Given the description of an element on the screen output the (x, y) to click on. 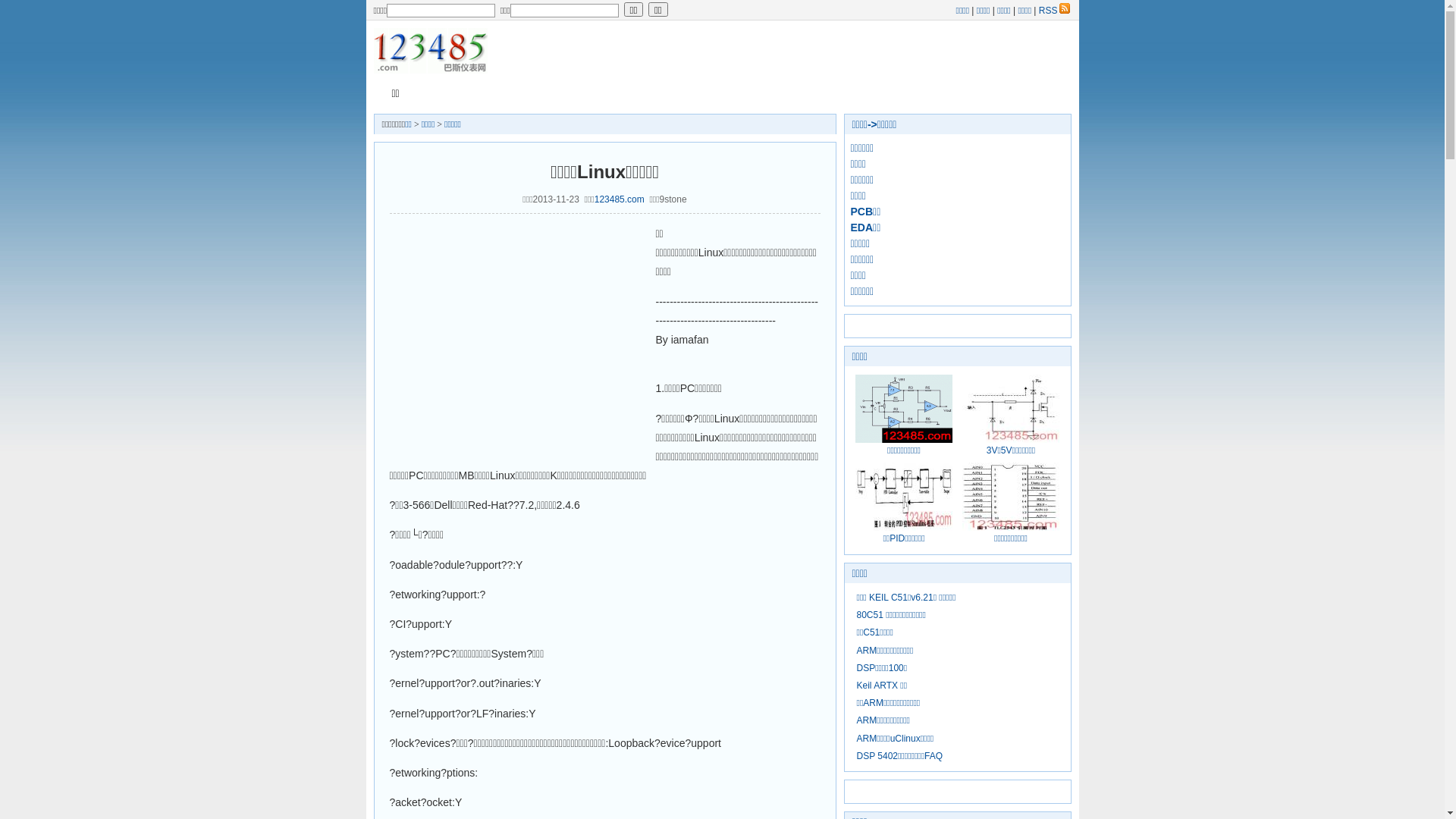
RSS Element type: text (1054, 9)
123485.com Element type: text (619, 199)
